Given the description of an element on the screen output the (x, y) to click on. 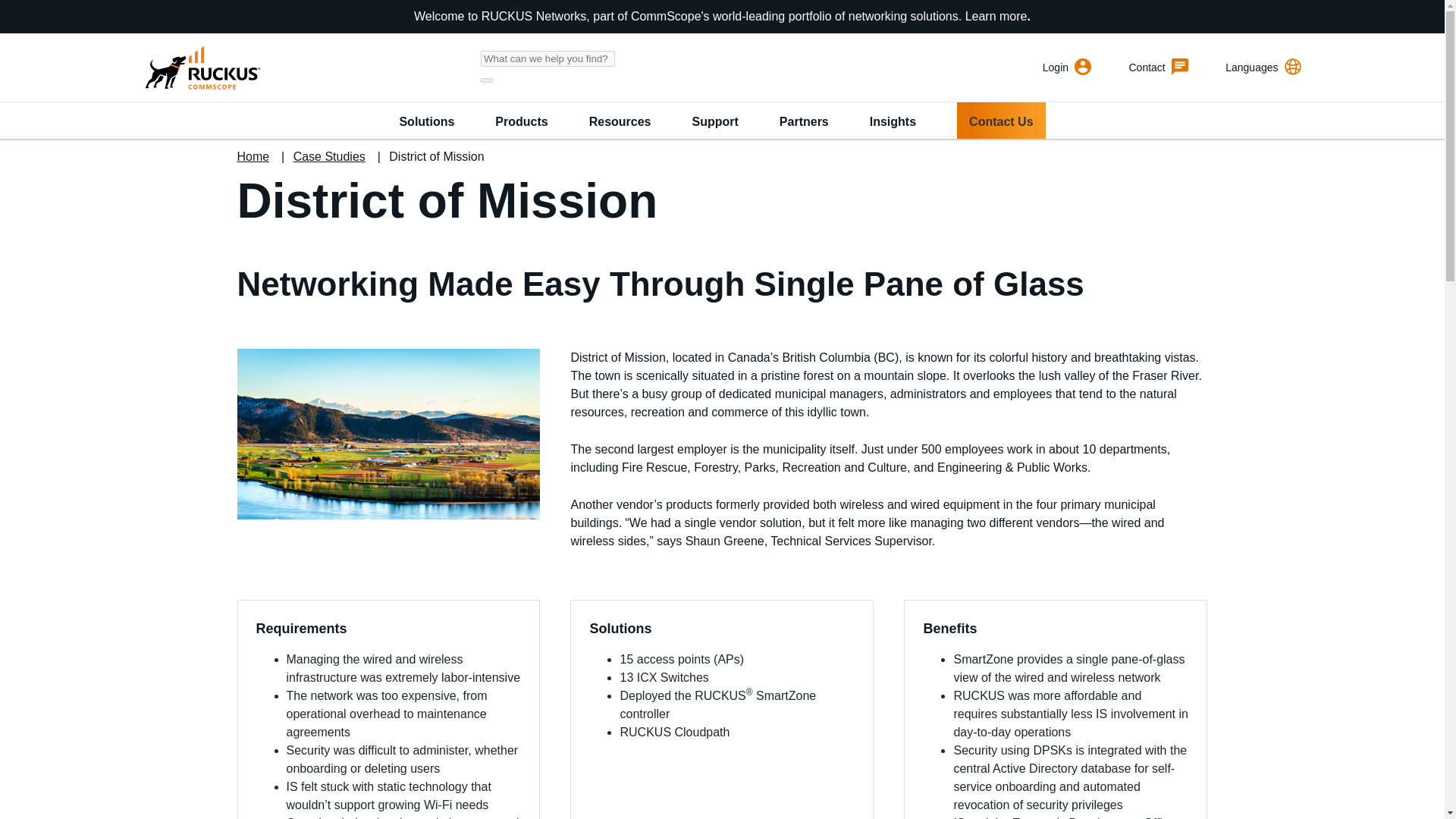
Resources (619, 120)
RUCKUS Networks (199, 67)
Contact Us (1000, 120)
500 x 281 District of Mission - British Columbia Card Hero (387, 433)
Partners (803, 120)
Learn more (996, 15)
Login (1066, 67)
Insights (892, 120)
Solutions (426, 120)
Products (521, 120)
